Given the description of an element on the screen output the (x, y) to click on. 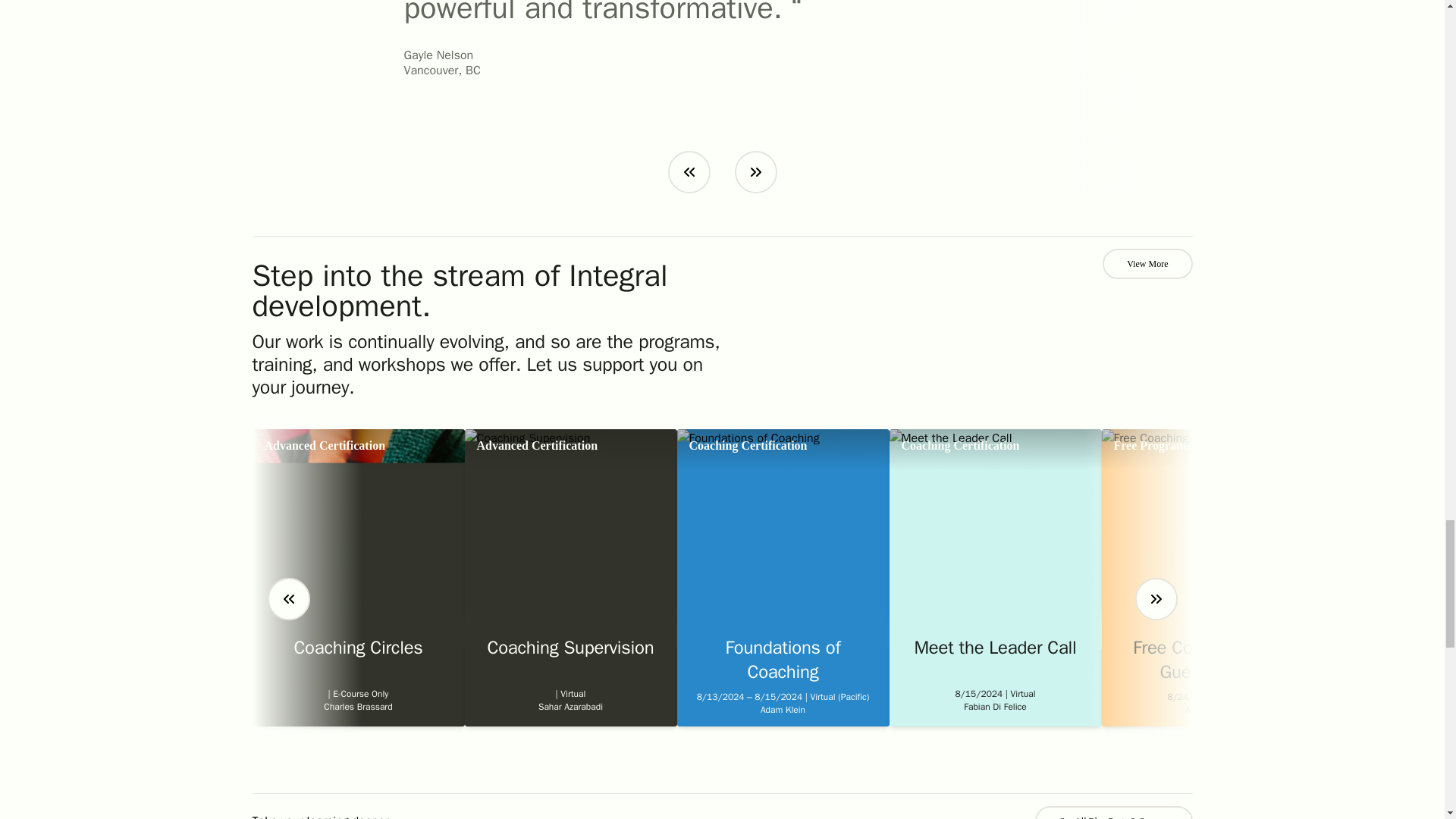
View More (1147, 263)
